Given the description of an element on the screen output the (x, y) to click on. 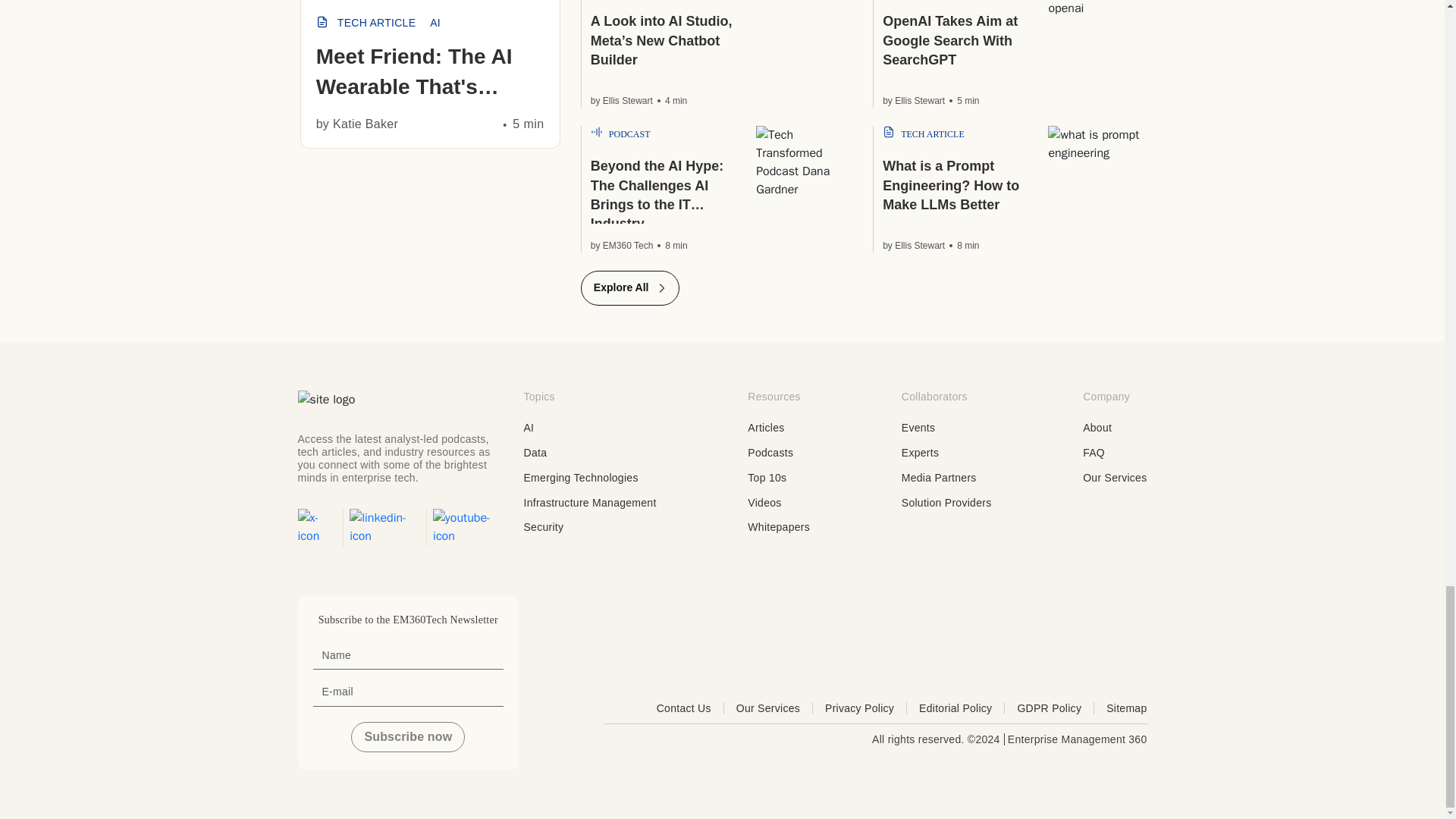
GDPR Policy (1055, 707)
Subscribe now (407, 736)
Sitemap (1126, 707)
Privacy Policy (866, 707)
